Given the description of an element on the screen output the (x, y) to click on. 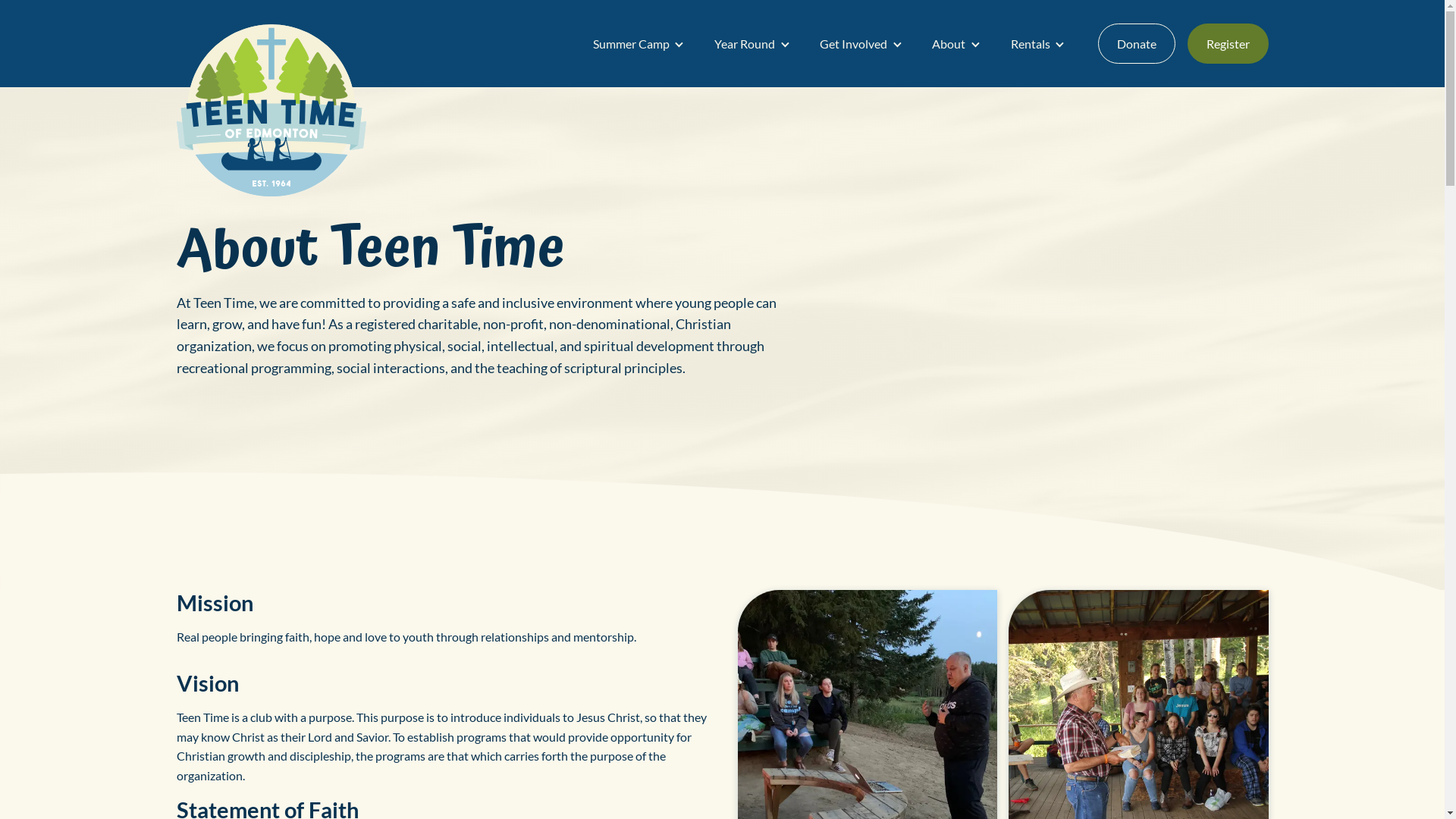
Register Element type: text (1227, 43)
Donate Element type: text (1136, 43)
